Given the description of an element on the screen output the (x, y) to click on. 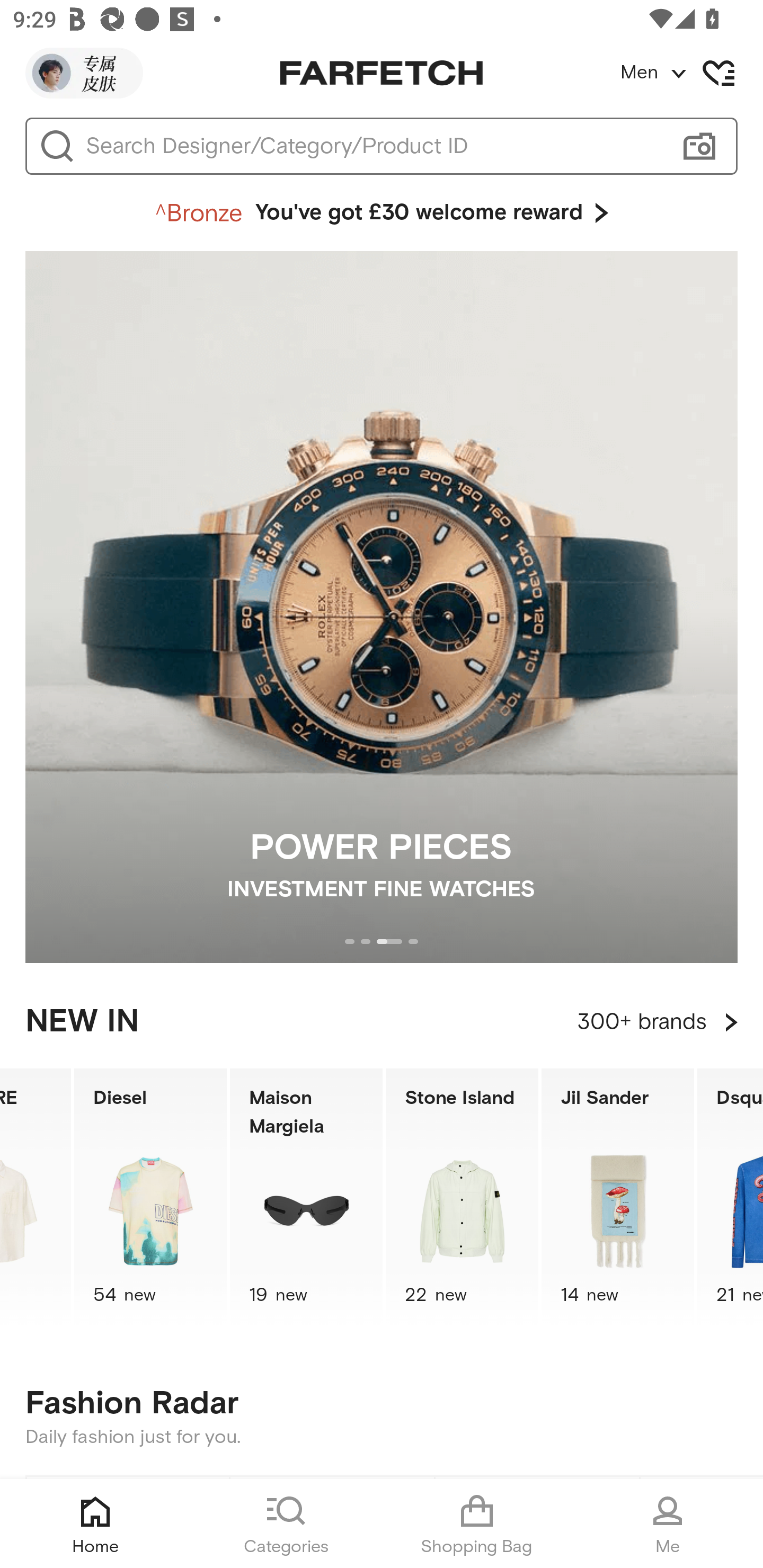
Men (691, 72)
Search Designer/Category/Product ID (373, 146)
You've got £30 welcome reward (381, 213)
NEW IN 300+ brands (381, 1021)
Diesel 54  new (150, 1196)
Maison Margiela 19  new (305, 1196)
Stone Island 22  new (462, 1196)
Jil Sander 14  new (617, 1196)
Categories (285, 1523)
Shopping Bag (476, 1523)
Me (667, 1523)
